Given the description of an element on the screen output the (x, y) to click on. 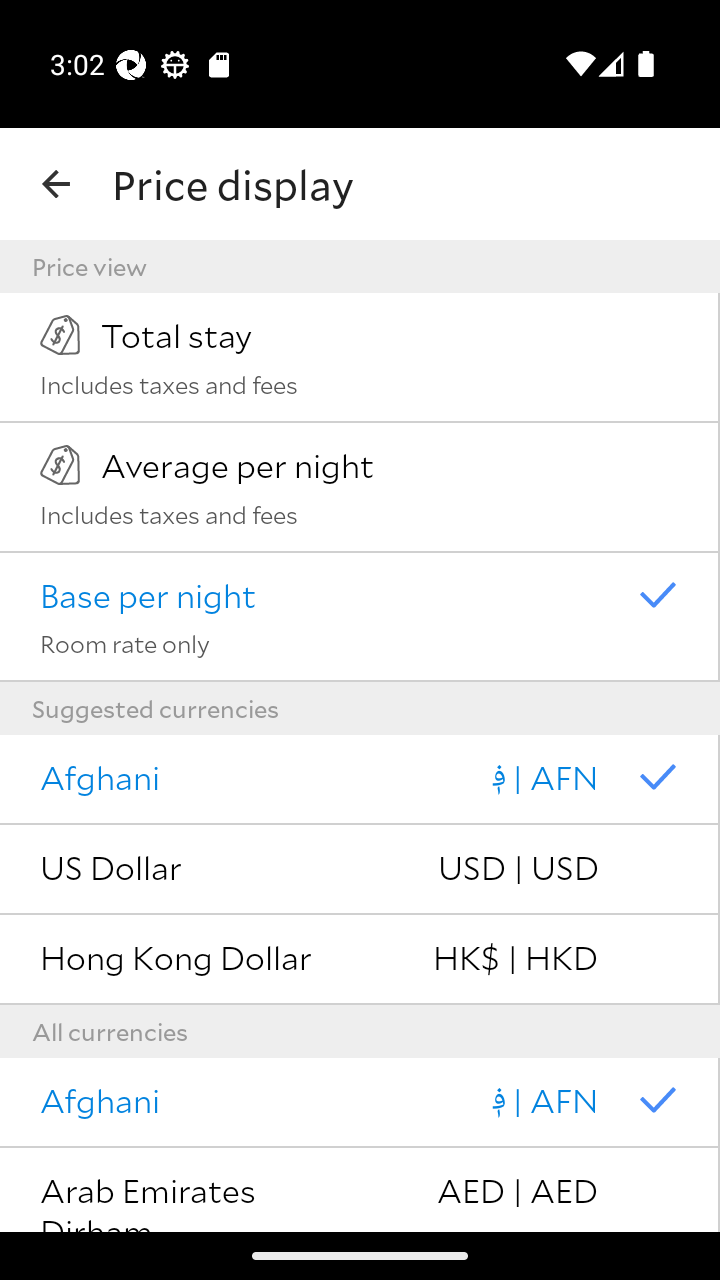
navigation_button (56, 184)
Average per night Includes taxes and fees (360, 487)
Base per night Room rate only (360, 617)
Afghani ‎؋ | AFN (360, 779)
US Dollar USD | USD (360, 870)
Hong Kong Dollar HK$ | HKD (360, 959)
Afghani ‎؋ | AFN (360, 1103)
Arab Emirates Dirham AED | AED (360, 1189)
